Given the description of an element on the screen output the (x, y) to click on. 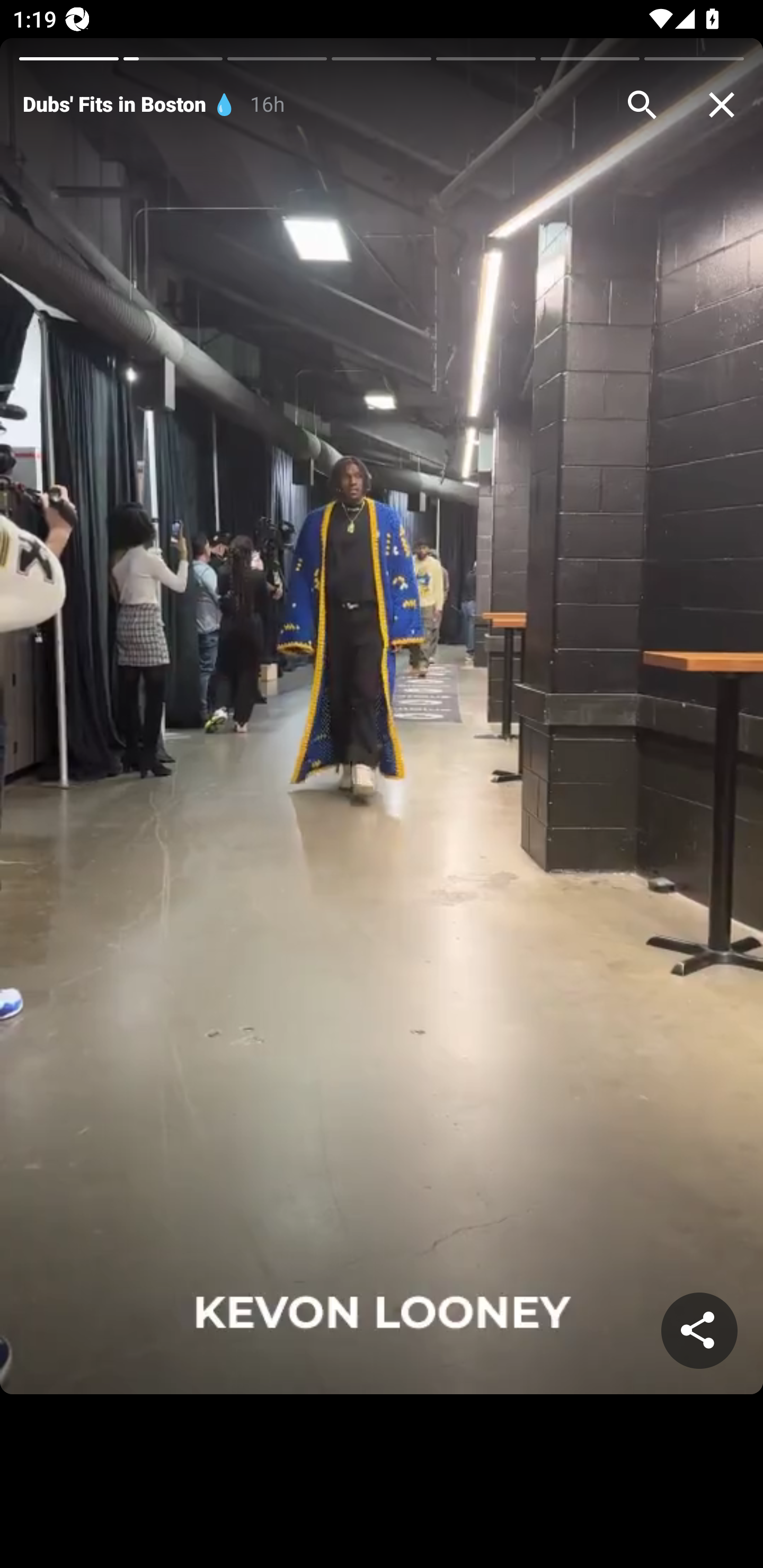
search (642, 104)
close (721, 104)
share (699, 1330)
